Given the description of an element on the screen output the (x, y) to click on. 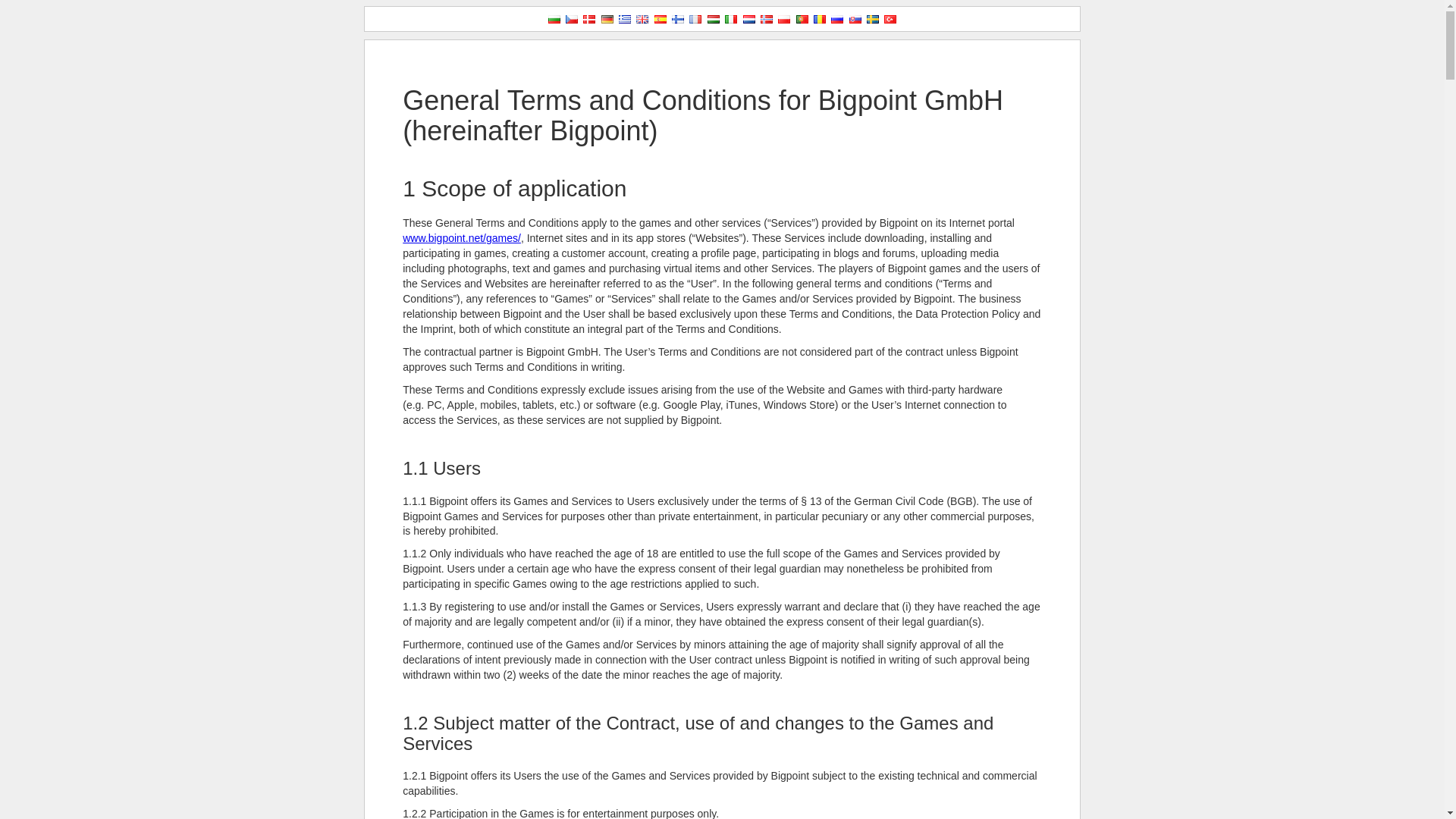
Slovensky (854, 19)
Nederlands (748, 19)
Suomi (677, 19)
Polski (783, 19)
Dansk (589, 19)
English (641, 19)
Magyar (713, 19)
Svenska (872, 19)
Norsk (766, 19)
Italiano (730, 19)
